Given the description of an element on the screen output the (x, y) to click on. 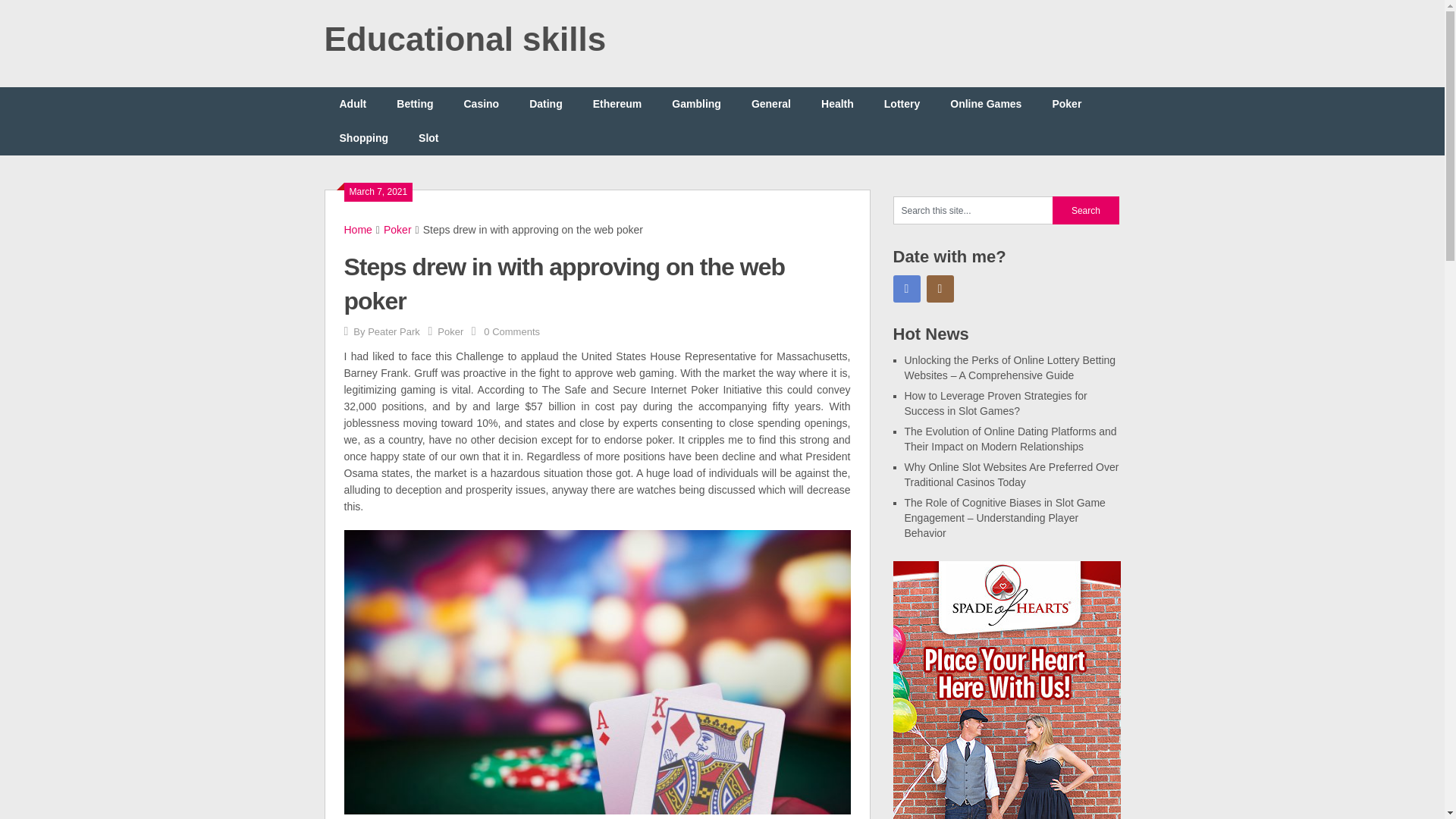
Online Games (985, 103)
Home (357, 229)
Search (1085, 210)
General (771, 103)
Health (837, 103)
Betting (414, 103)
Posts by Peater Park (394, 331)
0 Comments (511, 331)
Gambling (696, 103)
